Given the description of an element on the screen output the (x, y) to click on. 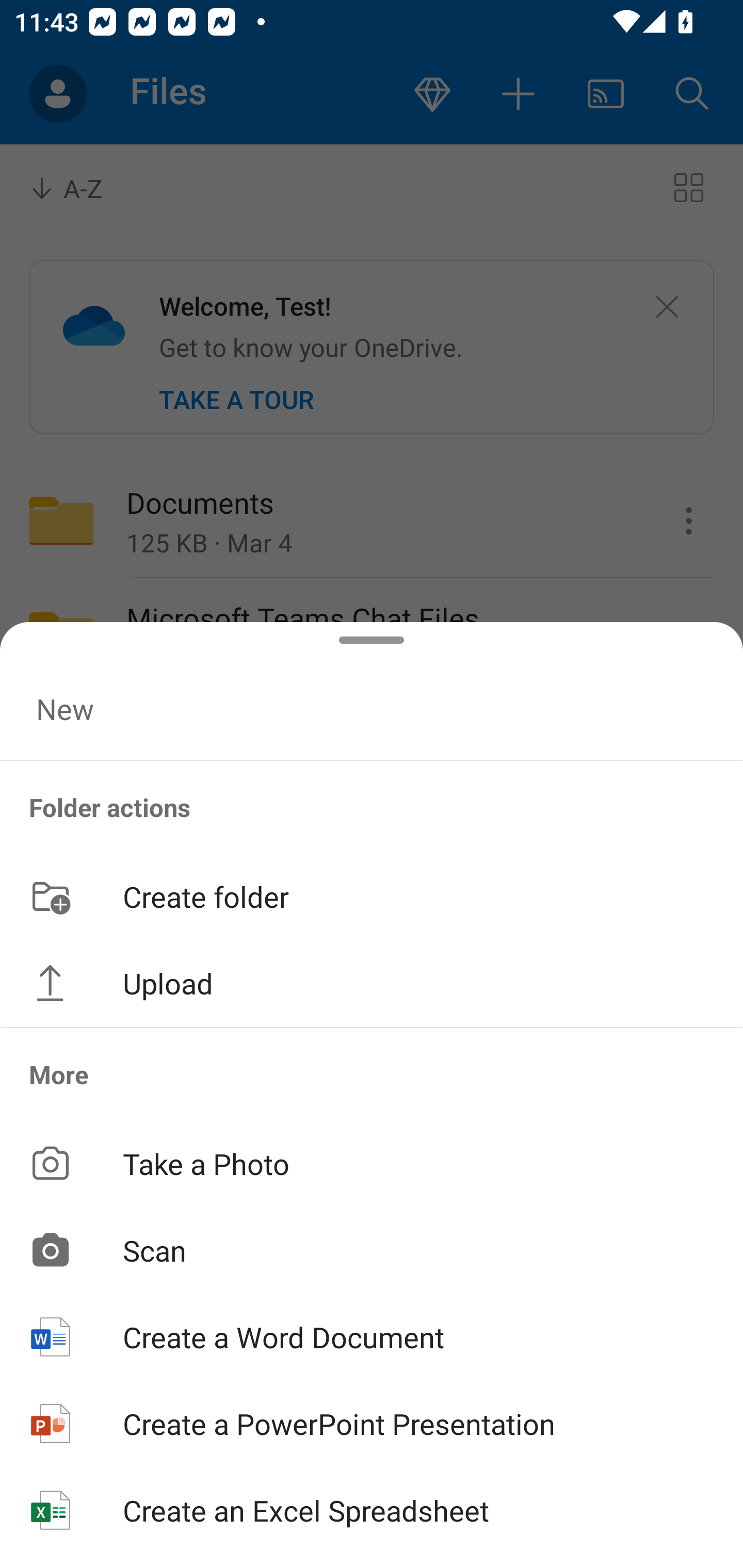
Create folder button Create folder (371, 895)
Upload button Upload (371, 983)
Take a Photo button Take a Photo (371, 1163)
Scan button Scan (371, 1250)
